Given the description of an element on the screen output the (x, y) to click on. 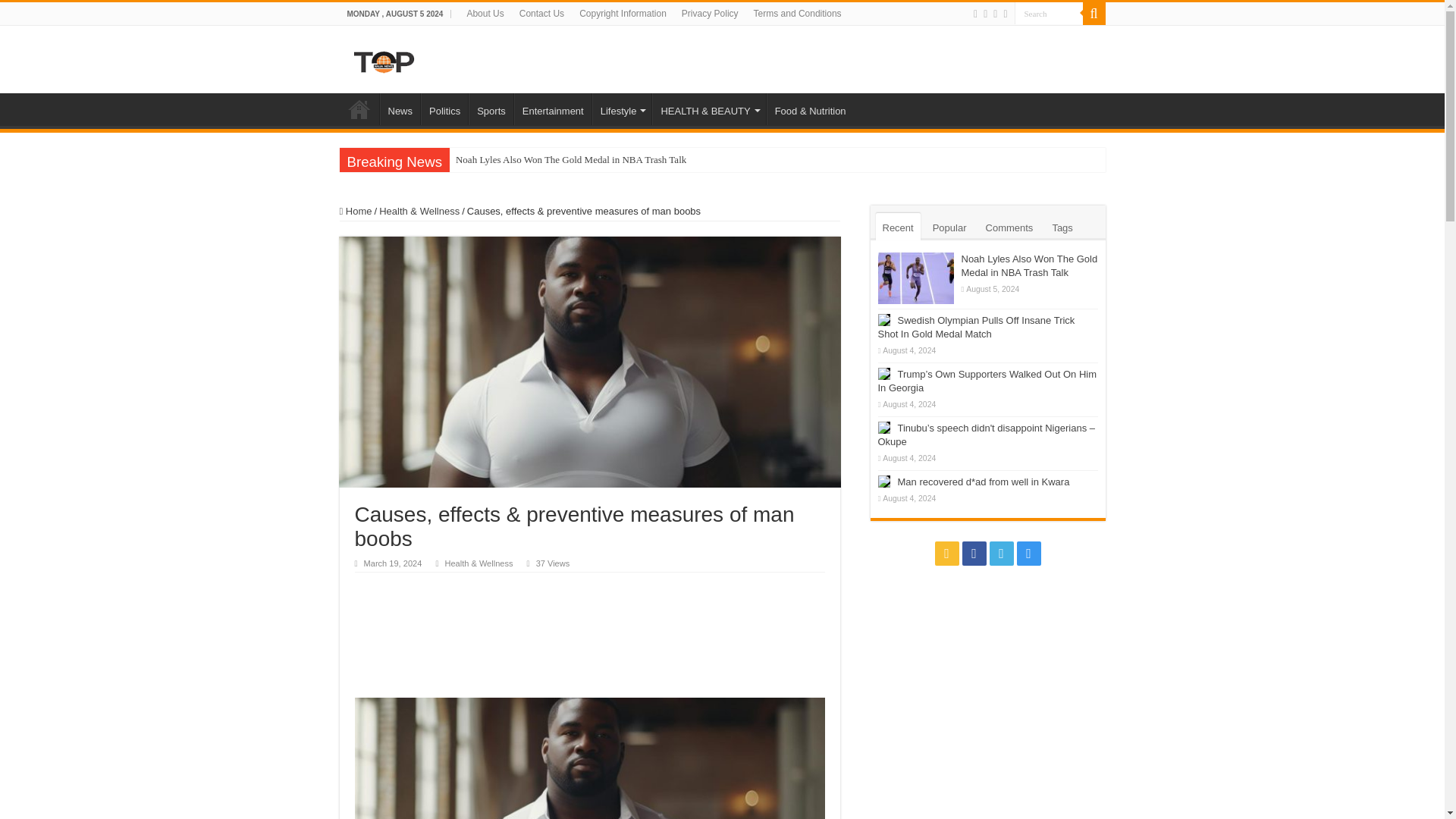
Contact Us (542, 13)
Entertainment (552, 109)
Copyright Information (623, 13)
Search (1048, 13)
Privacy Policy (709, 13)
Search (1048, 13)
Search (1094, 13)
Politics (443, 109)
About Us (484, 13)
Home (358, 109)
